Given the description of an element on the screen output the (x, y) to click on. 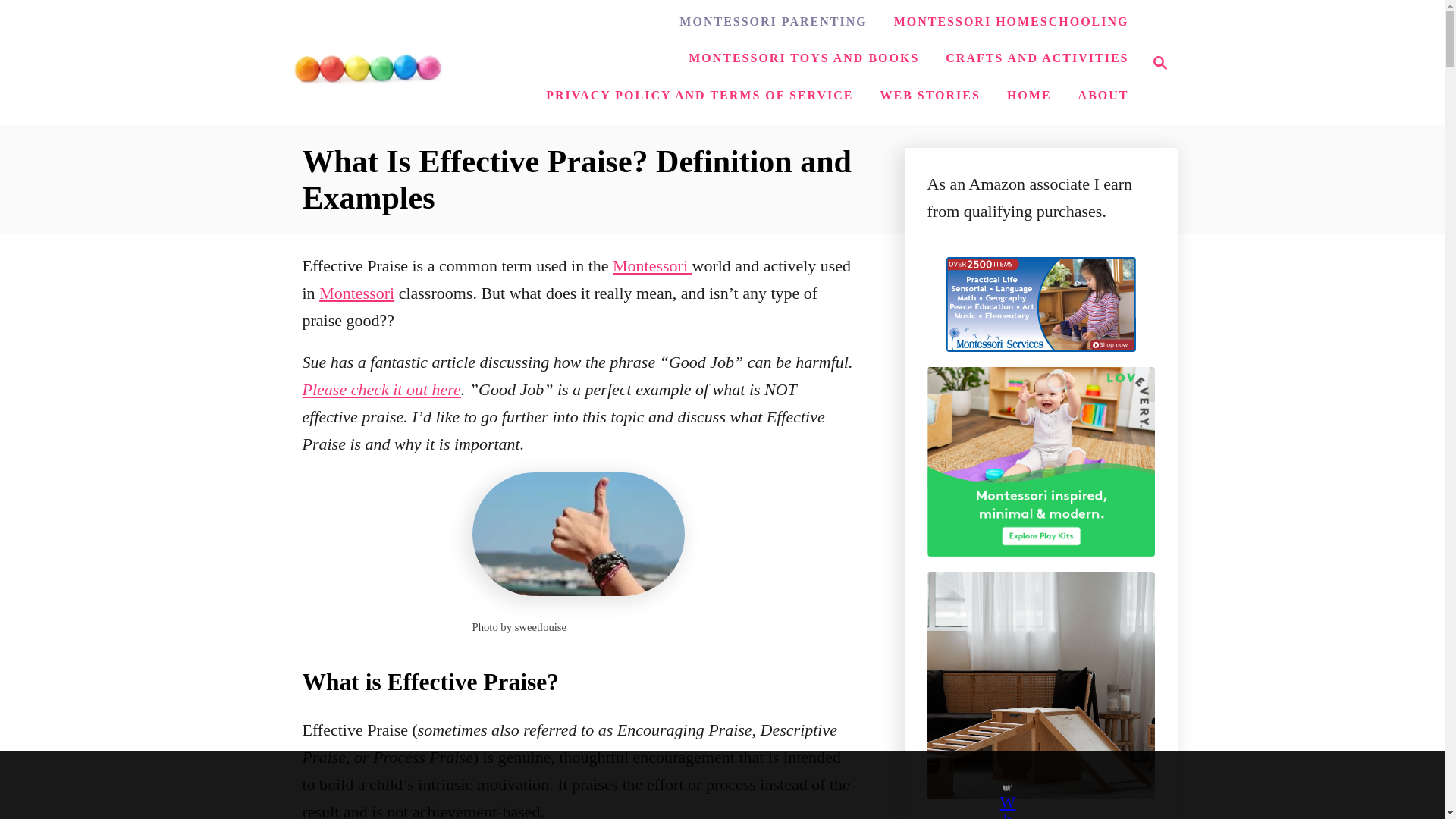
MONTESSORI HOMESCHOOLING (1011, 21)
Montessori (652, 265)
Skip to Content (1155, 62)
MONTESSORI PARENTING (380, 389)
PRIVACY POLICY AND TERMS OF SERVICE (773, 21)
WEB STORIES (699, 95)
MONTESSORI TOYS AND BOOKS (929, 95)
CRAFTS AND ACTIVITIES (803, 58)
The Montessori-Minded Mom (1036, 58)
Magnifying Glass (367, 62)
Montessori (1160, 63)
HOME (356, 292)
ABOUT (1028, 95)
